Given the description of an element on the screen output the (x, y) to click on. 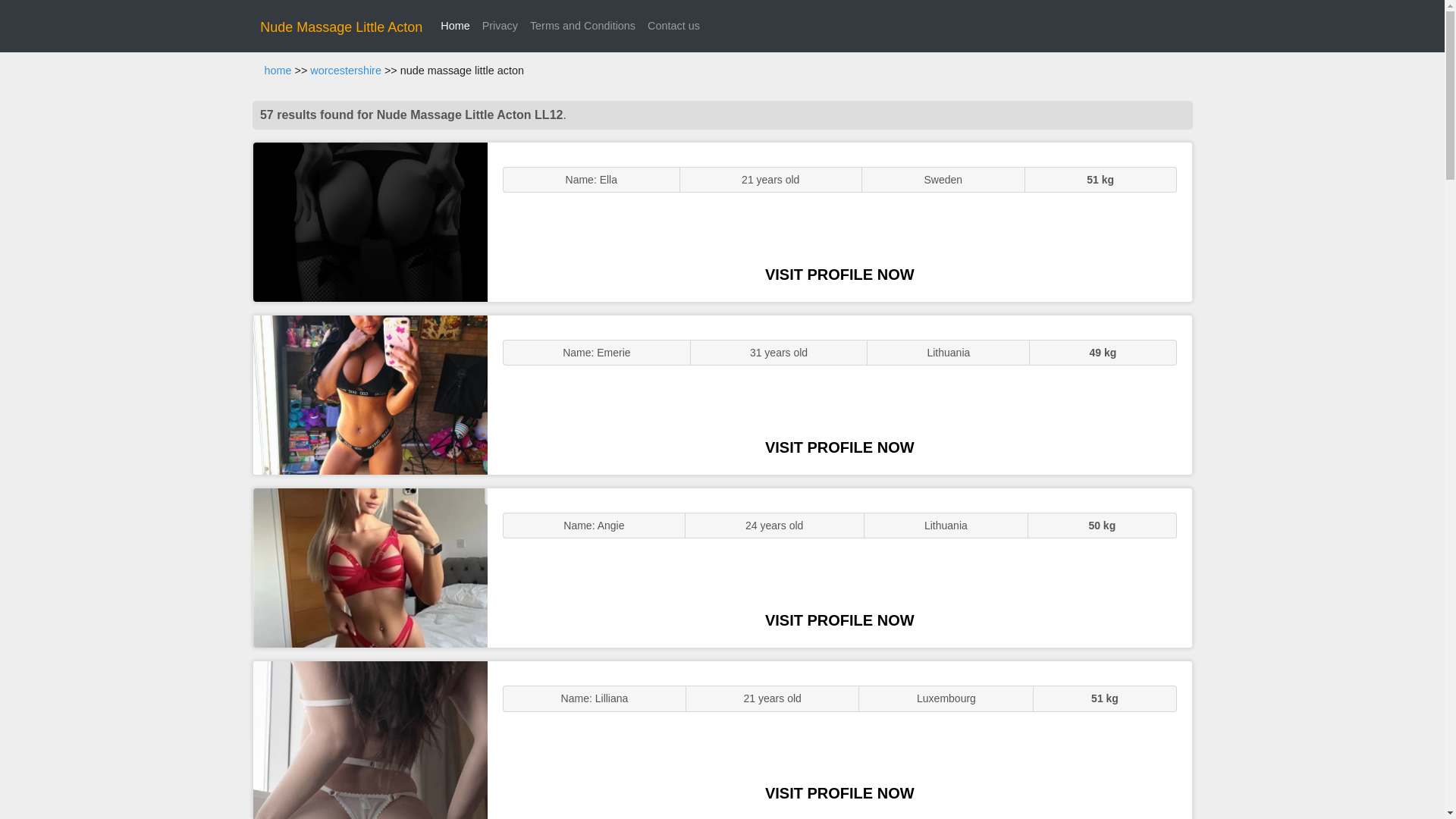
home (277, 70)
GFE (370, 395)
worcestershire (345, 70)
Contact us (674, 25)
VISIT PROFILE NOW (839, 446)
VISIT PROFILE NOW (839, 619)
Terms and Conditions (583, 25)
VISIT PROFILE NOW (839, 792)
Privacy (500, 25)
Nude Massage Little Acton (341, 27)
Sluts (370, 739)
 ENGLISH STUNNER (370, 222)
VISIT PROFILE NOW (839, 274)
Sexy (370, 567)
